Given the description of an element on the screen output the (x, y) to click on. 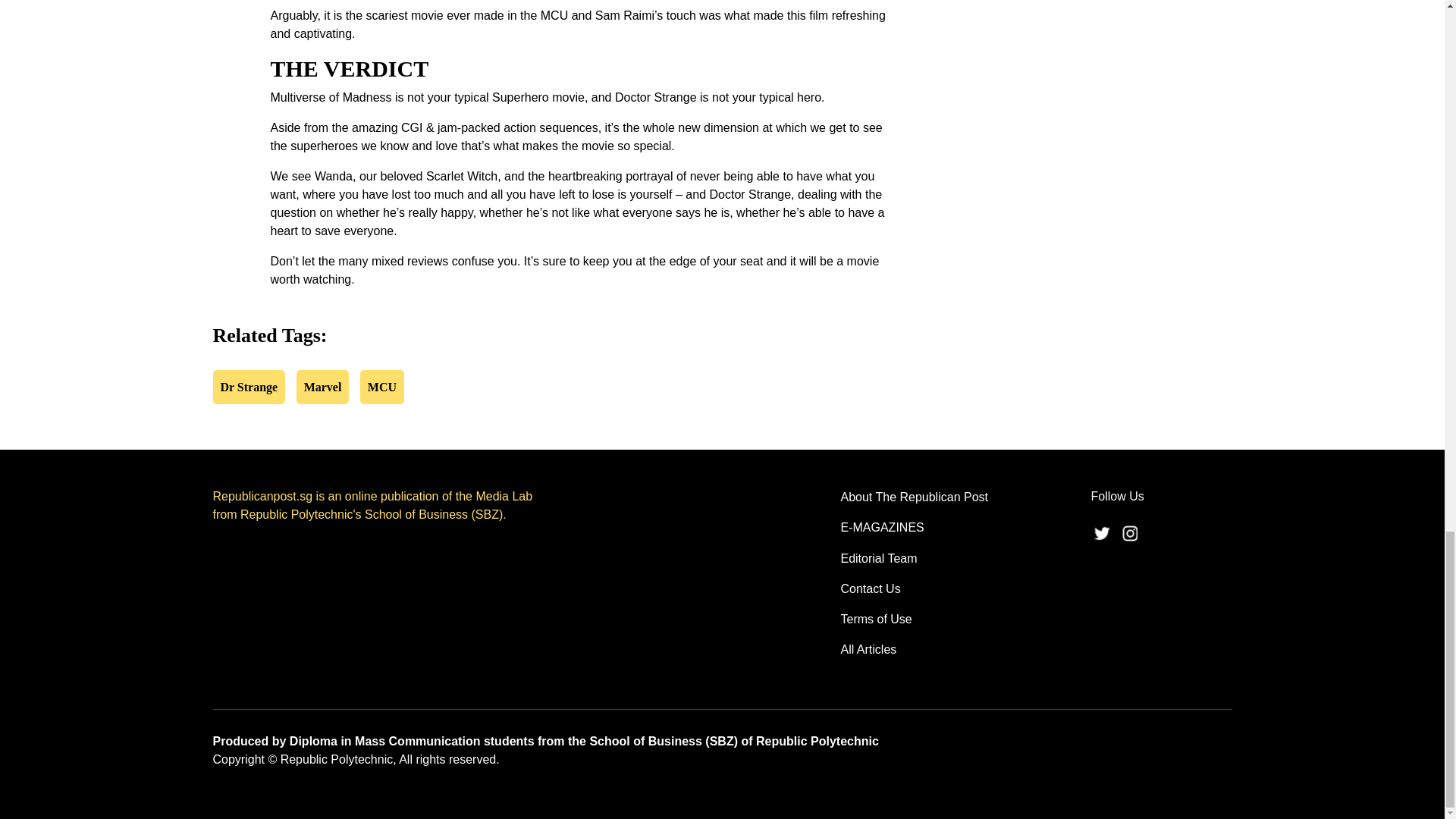
Dr Strange (248, 387)
Marvel (323, 387)
MCU (381, 387)
